Given the description of an element on the screen output the (x, y) to click on. 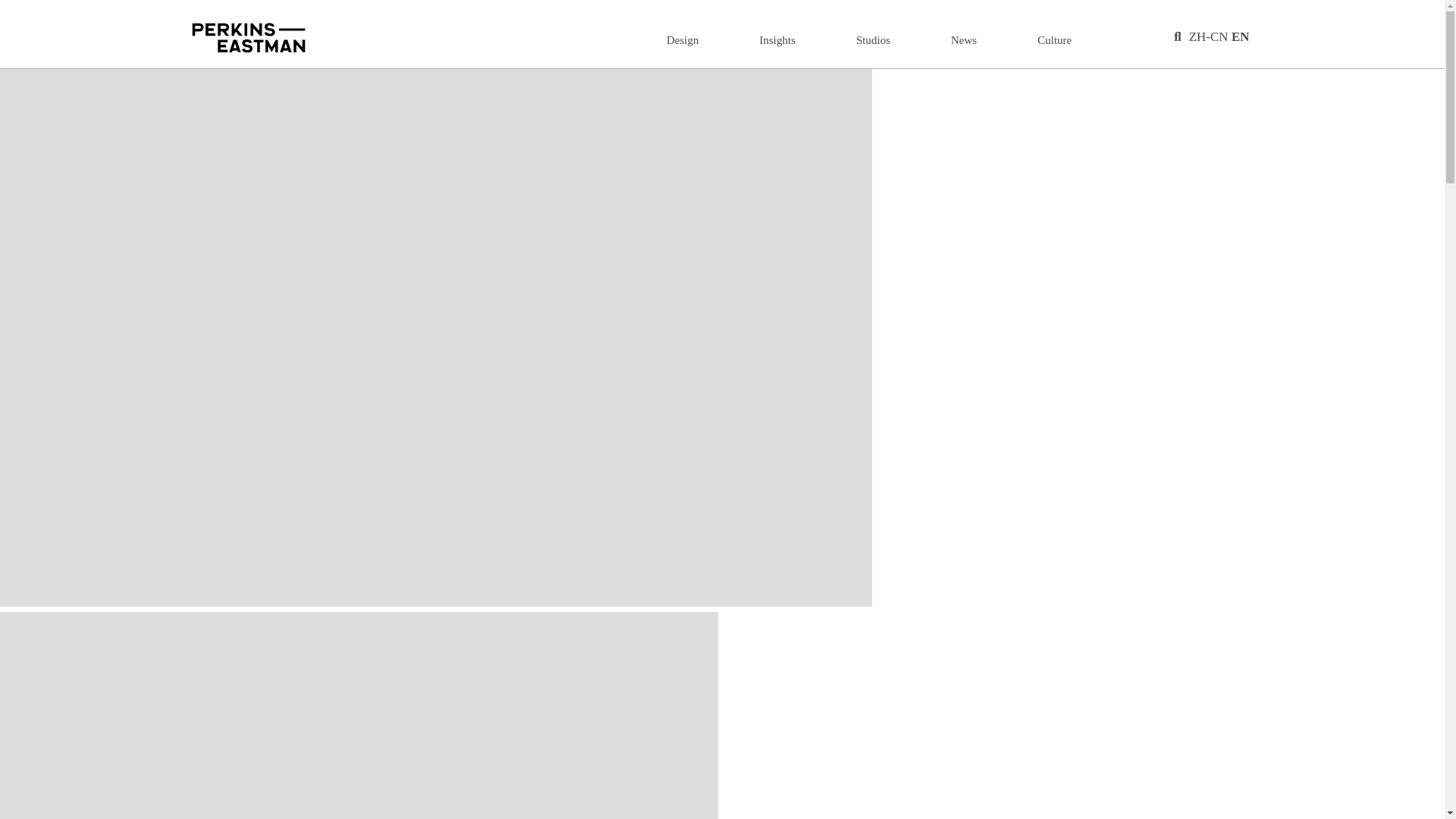
Design (682, 40)
Insights (778, 40)
English (1240, 36)
